Given the description of an element on the screen output the (x, y) to click on. 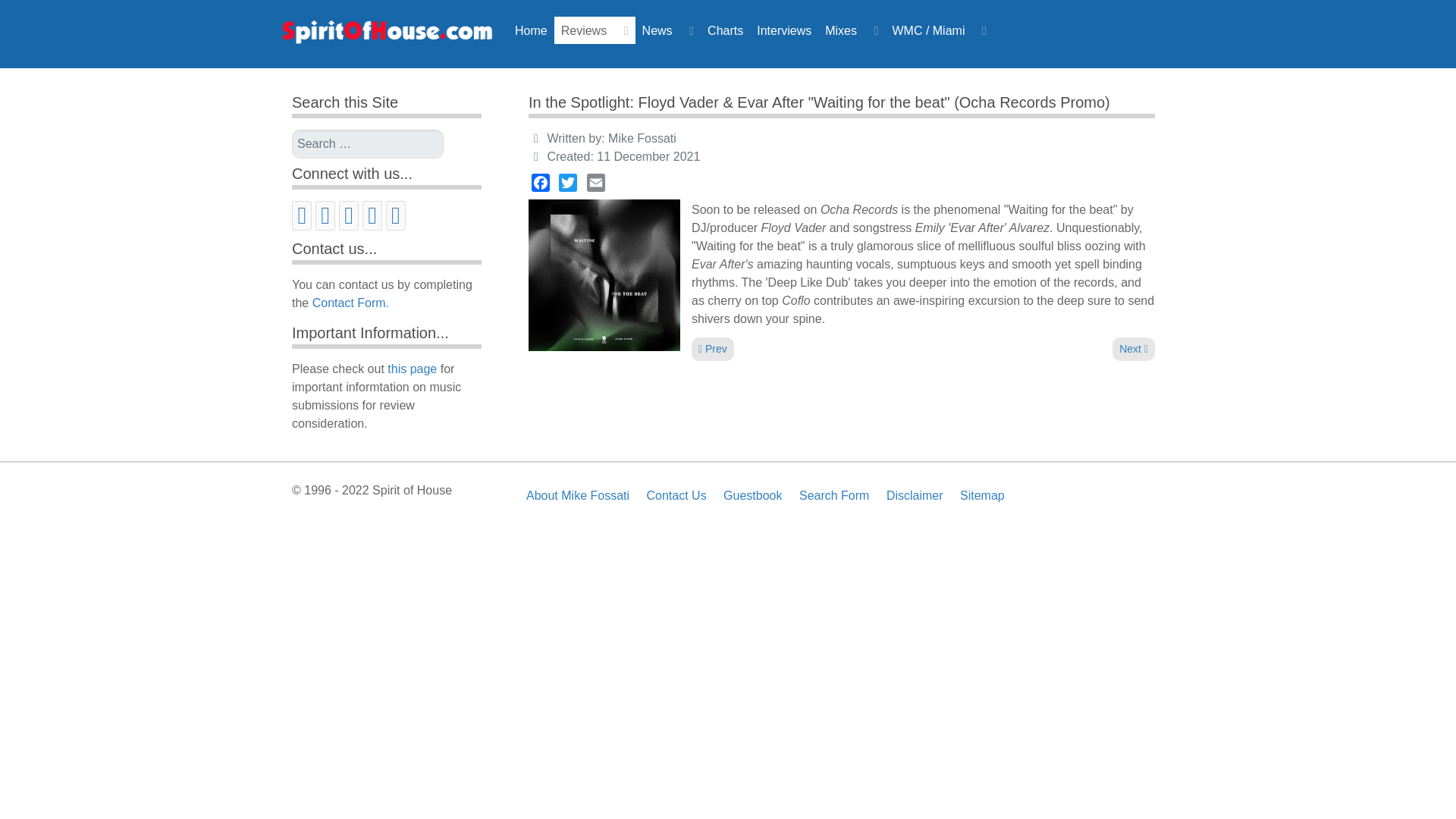
this page (411, 368)
Spirit of House (386, 35)
Reviews (594, 29)
LinkedIn (348, 215)
Twitter (567, 182)
Charts (724, 29)
Facebook (301, 215)
Mixes (851, 29)
Email (371, 215)
Facebook (540, 182)
Contact Form. (350, 302)
Twitter (324, 215)
News (667, 29)
RSS (1133, 349)
